Given the description of an element on the screen output the (x, y) to click on. 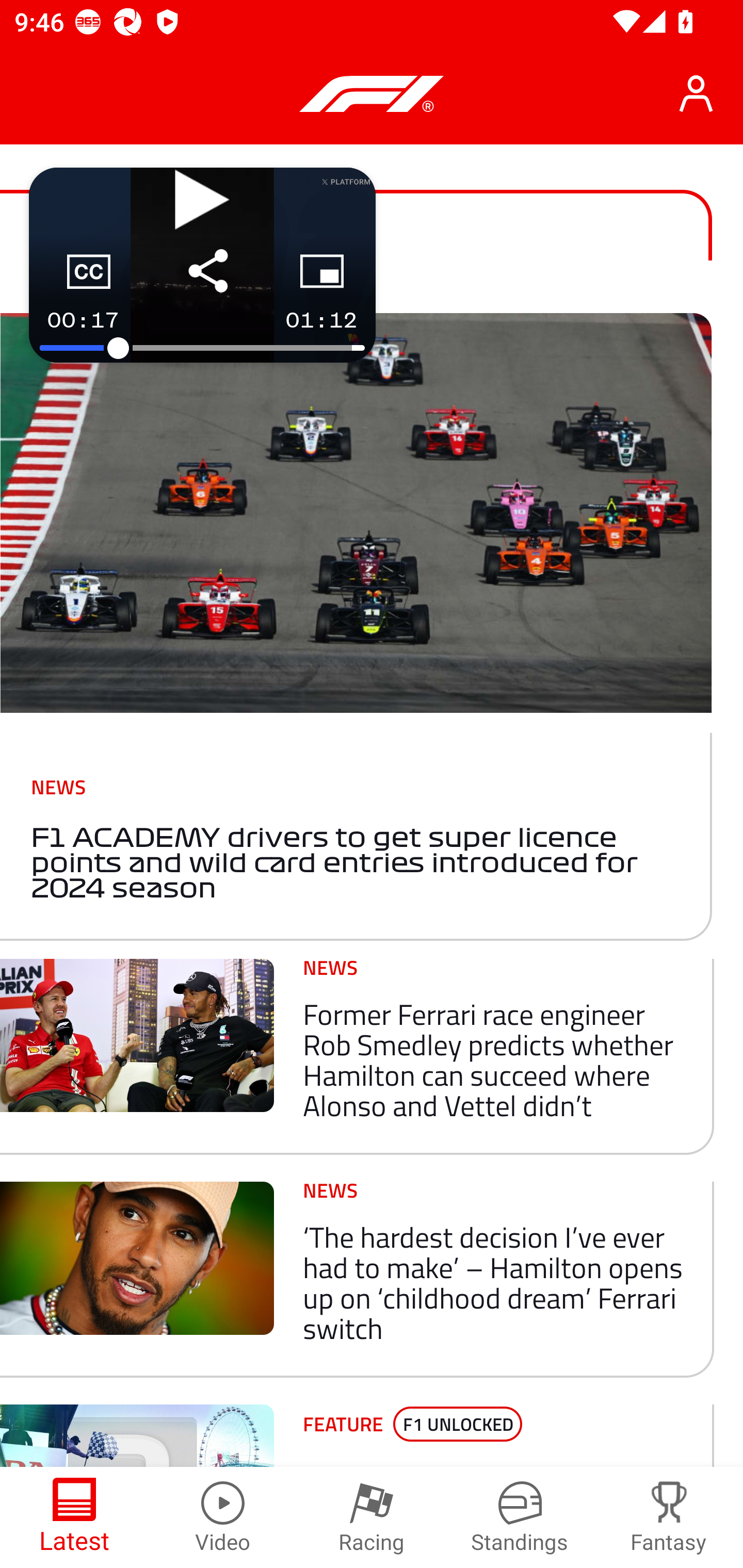
Video (222, 1517)
Racing (371, 1517)
Standings (519, 1517)
Fantasy (668, 1517)
